Given the description of an element on the screen output the (x, y) to click on. 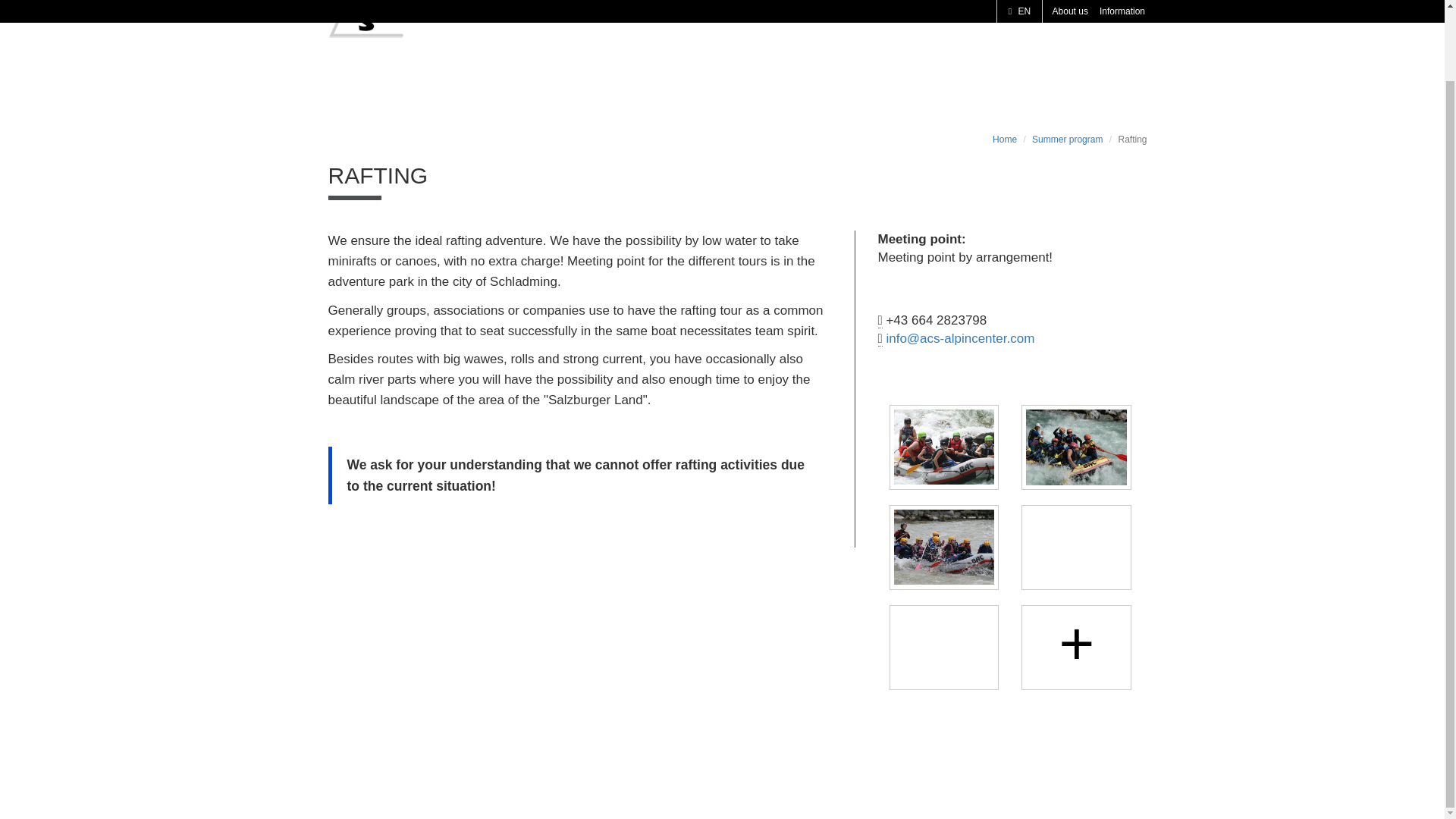
SUMMER PROGRAM (723, 9)
WINTER PROGRAM (868, 9)
YOUTH PROGRAM (1009, 9)
HOME (617, 9)
CONTACT (1122, 9)
